Given the description of an element on the screen output the (x, y) to click on. 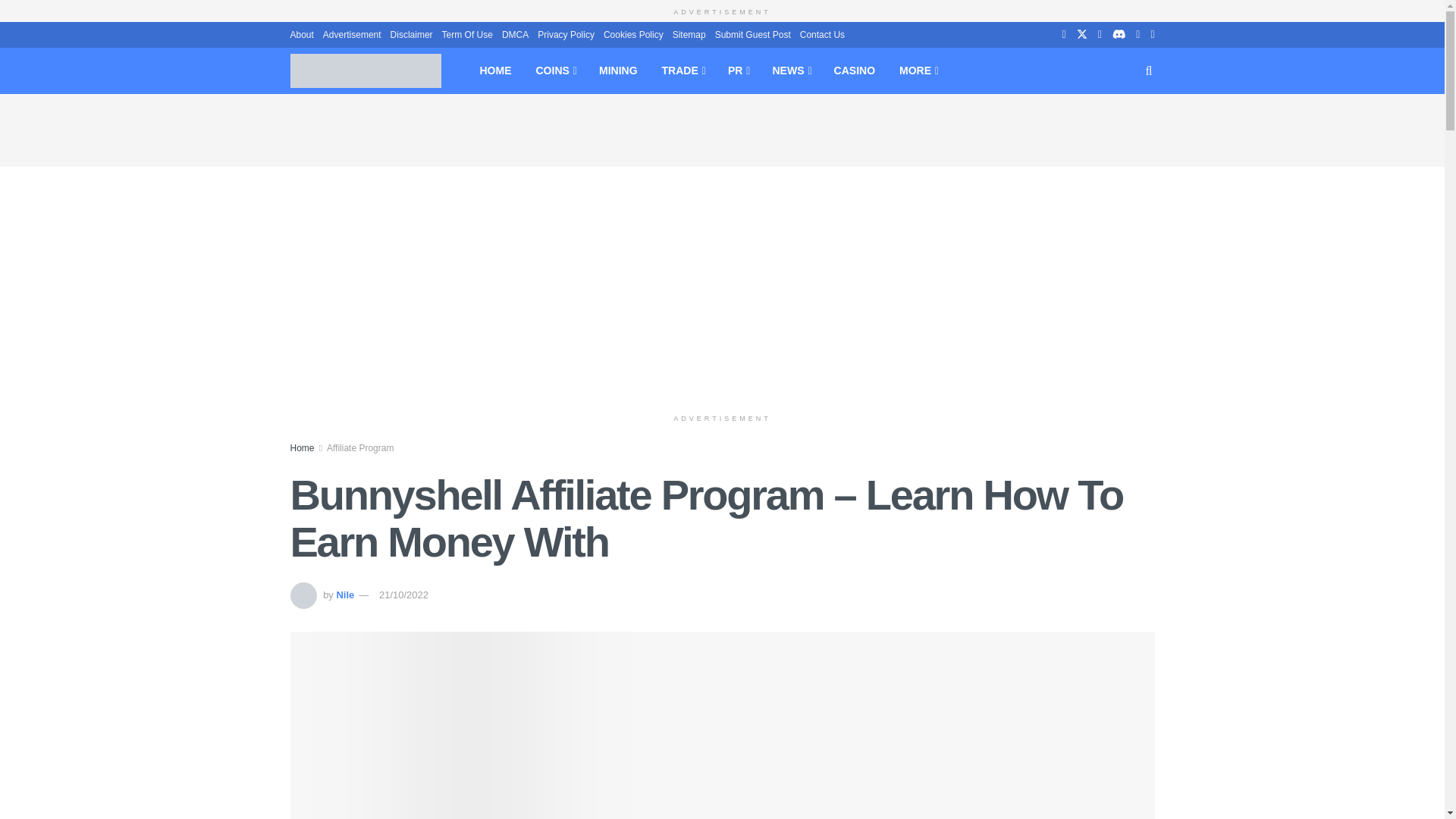
Privacy Policy (565, 33)
COINS (554, 69)
CASINO (854, 69)
Advertisement (352, 33)
Term Of Use (467, 33)
MINING (617, 69)
Submit Guest Post (752, 33)
NEWS (790, 69)
About (301, 33)
Contact Us (821, 33)
Cookies Policy (633, 33)
MORE (917, 69)
TRADE (682, 69)
PR (738, 69)
HOME (494, 69)
